Given the description of an element on the screen output the (x, y) to click on. 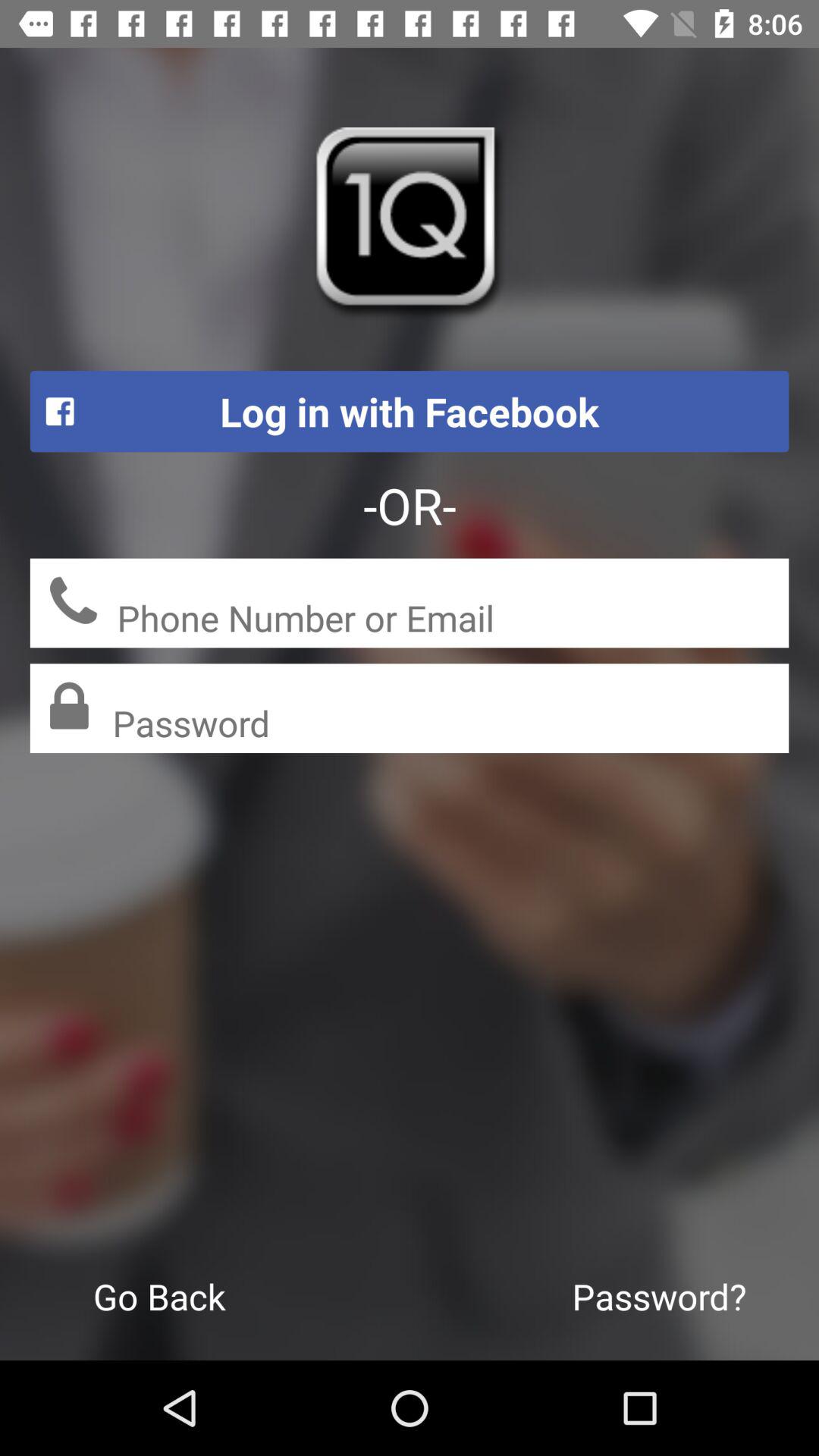
open the password? icon (658, 1296)
